Given the description of an element on the screen output the (x, y) to click on. 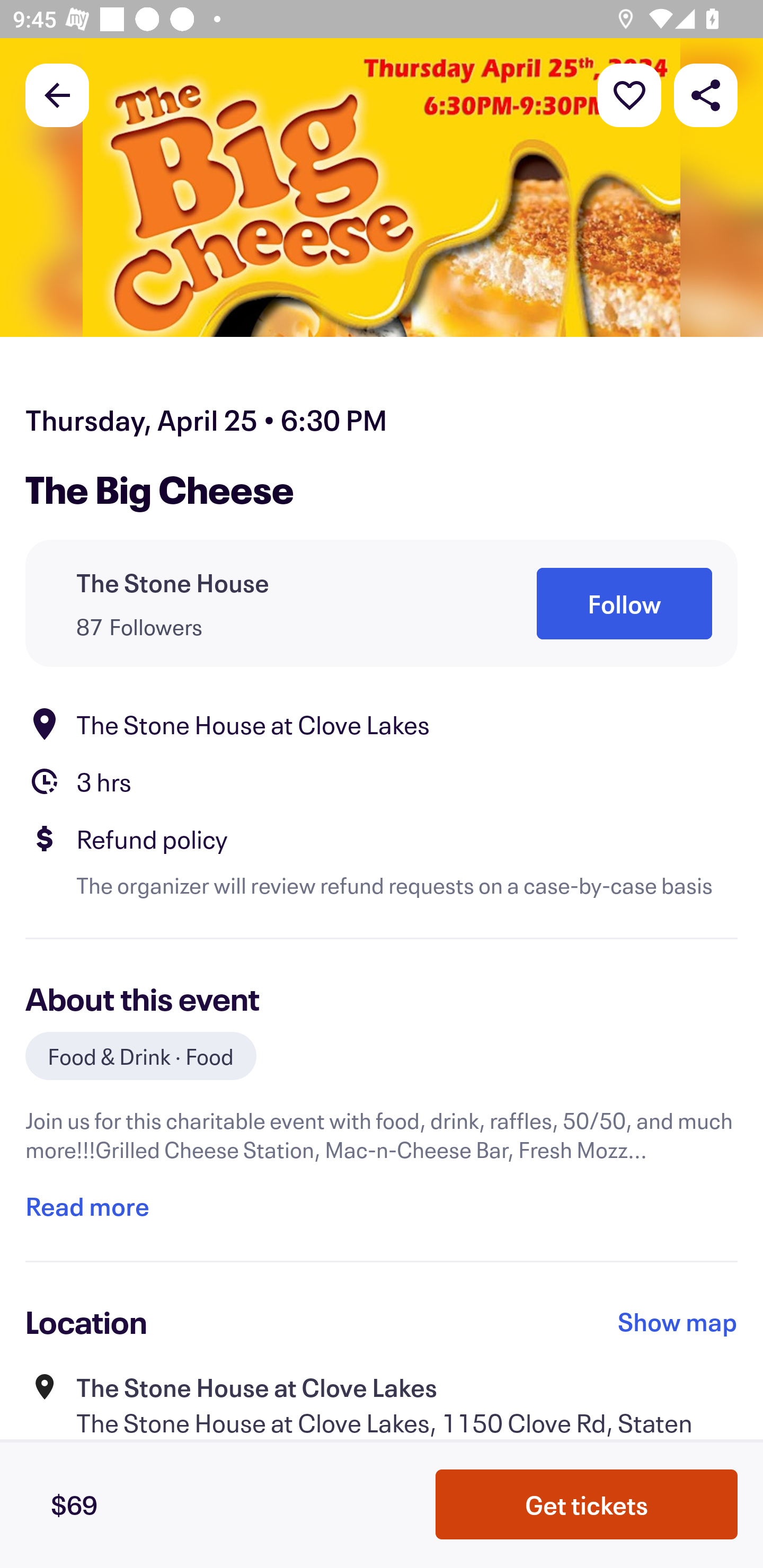
Back (57, 94)
More (629, 94)
Share (705, 94)
The Stone House (172, 582)
Follow (623, 603)
Location The Stone House at Clove Lakes (381, 724)
Read more (87, 1206)
Show map (677, 1321)
Get tickets (586, 1504)
